Given the description of an element on the screen output the (x, y) to click on. 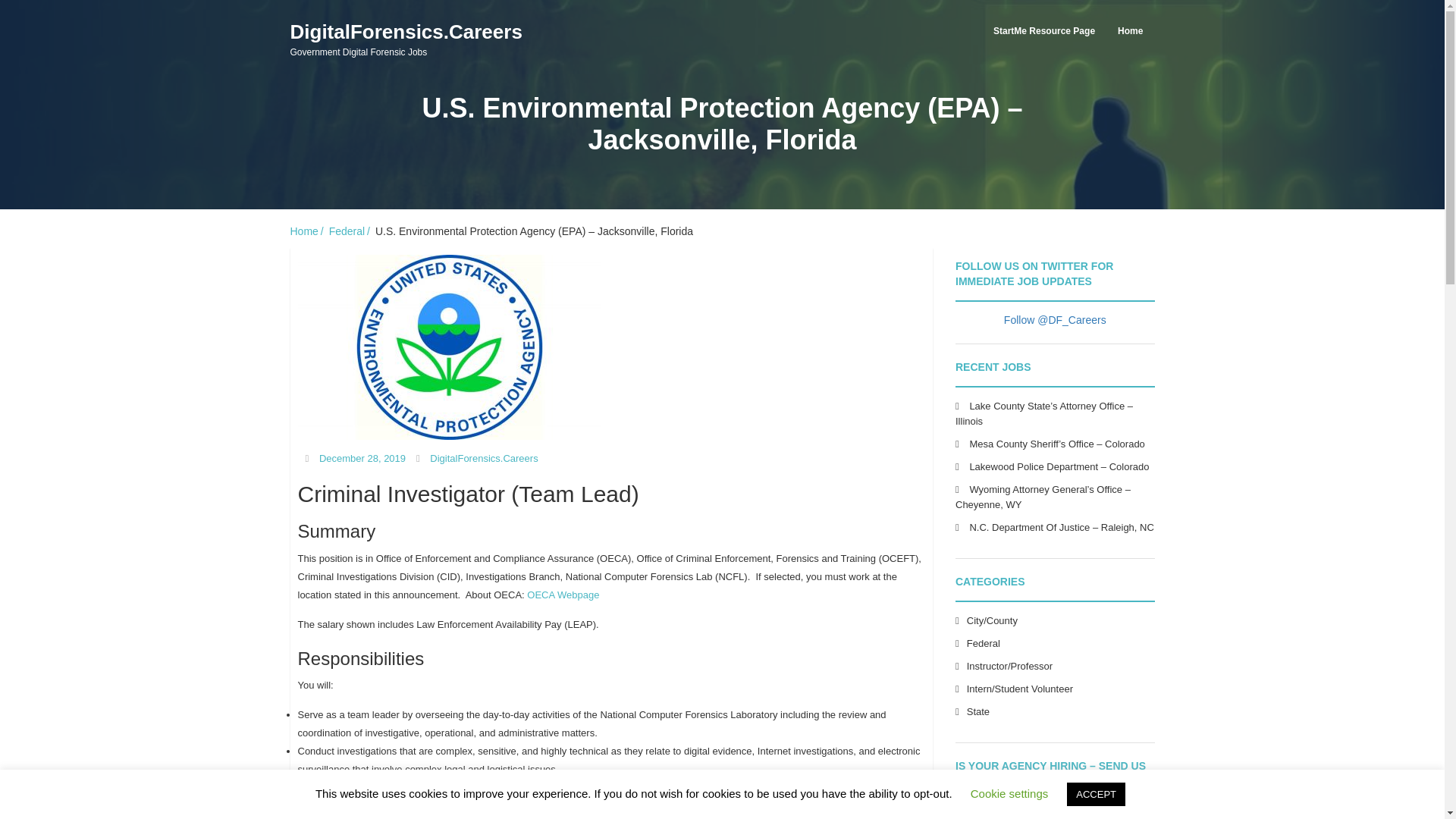
State (978, 711)
3:47 pm (362, 458)
December 28, 2019 (362, 458)
DigitalForensics.Careers (405, 39)
Federal (483, 458)
Cookie settings (983, 643)
OECA Webpage (1009, 793)
View all posts by DigitalForensics.Careers (562, 594)
Home (483, 458)
ACCEPT (306, 231)
Federal (1096, 793)
StartMe Resource Page (350, 231)
